Given the description of an element on the screen output the (x, y) to click on. 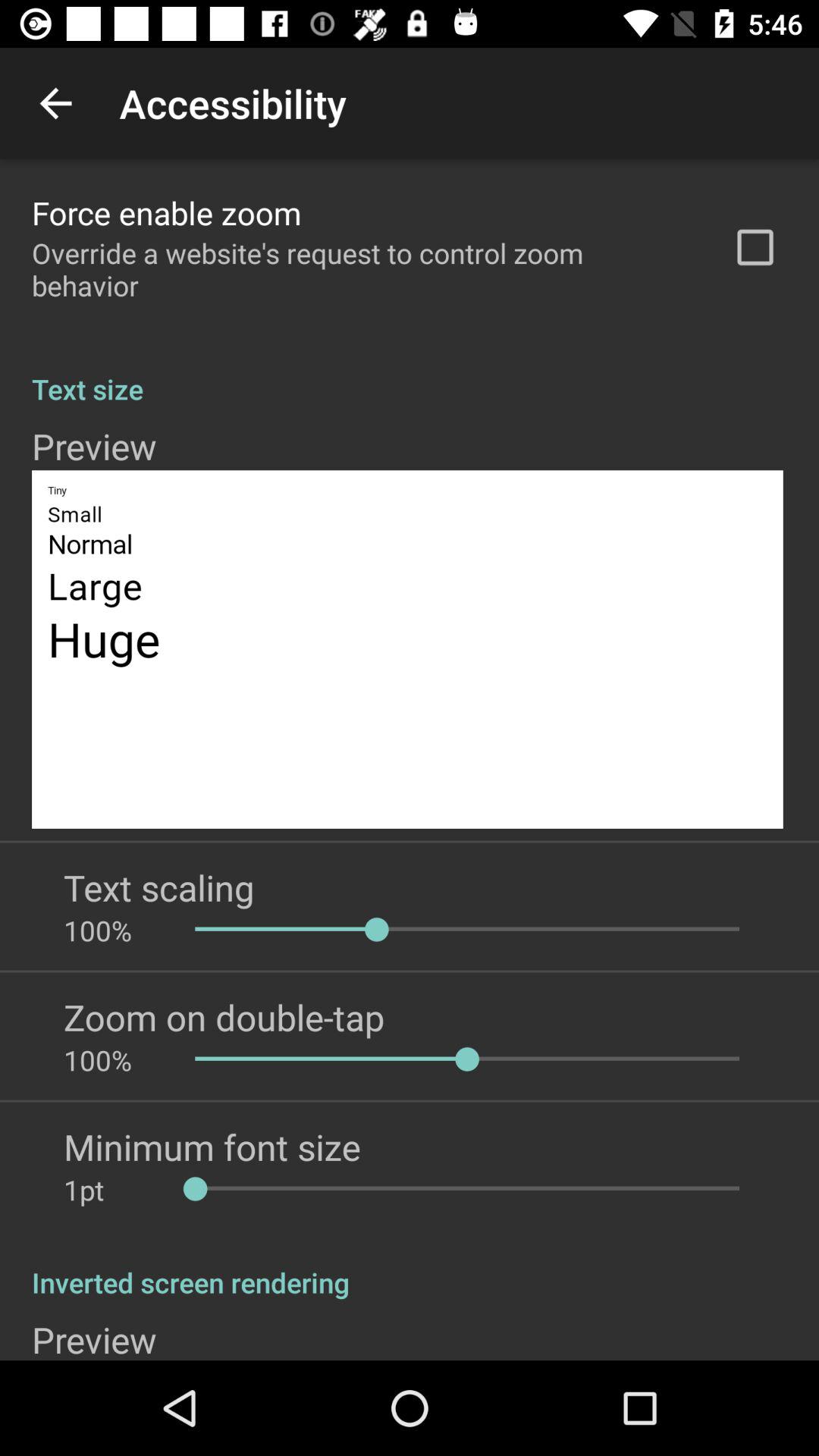
select override a website item (361, 269)
